Given the description of an element on the screen output the (x, y) to click on. 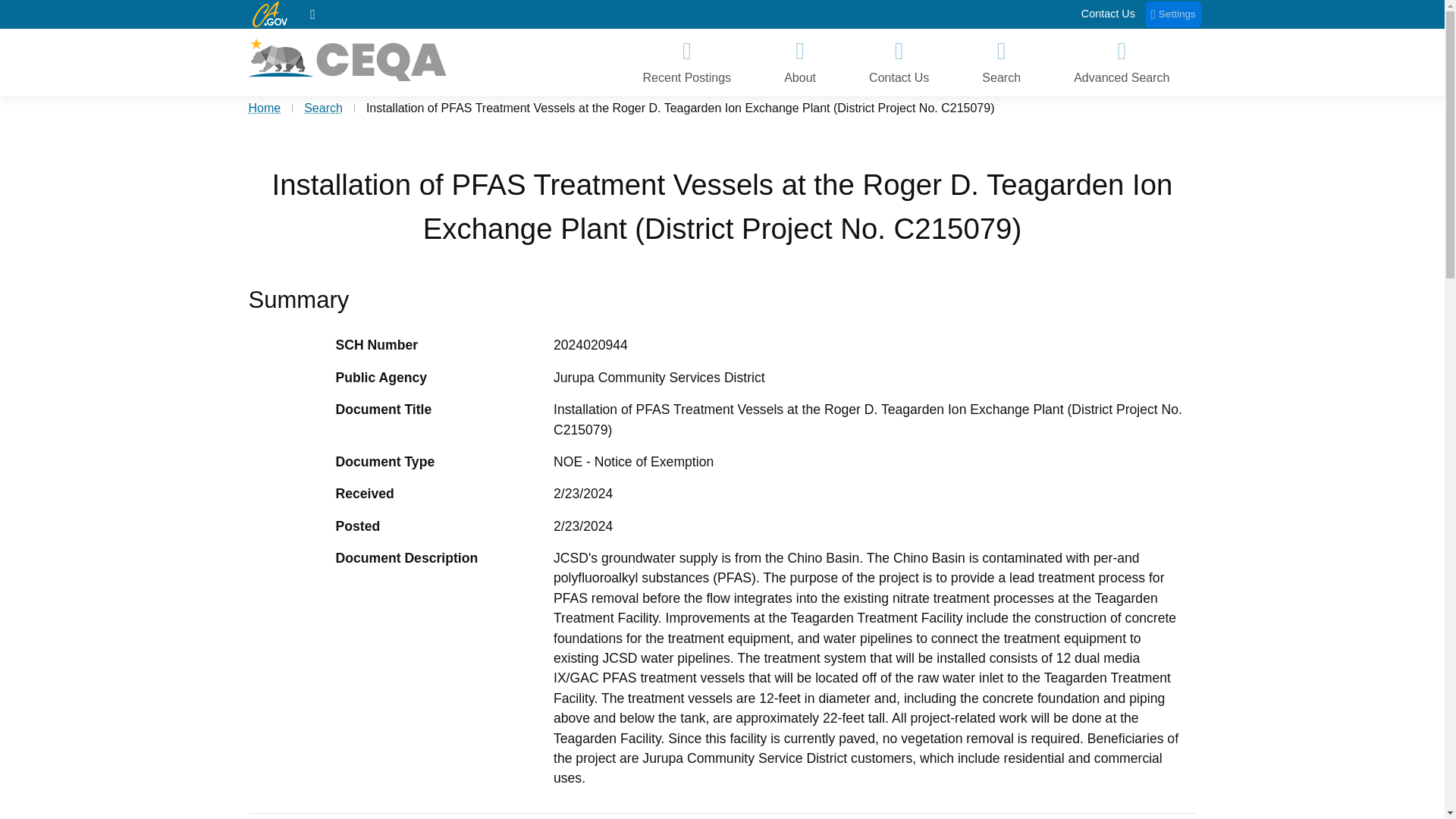
Search (323, 107)
Recent Postings (686, 62)
Settings (1173, 14)
Home (264, 107)
Search (1000, 62)
Contact Us (899, 62)
Advanced Search (1120, 62)
Contact Us (1108, 13)
CA.gov (268, 14)
About (800, 62)
